Given the description of an element on the screen output the (x, y) to click on. 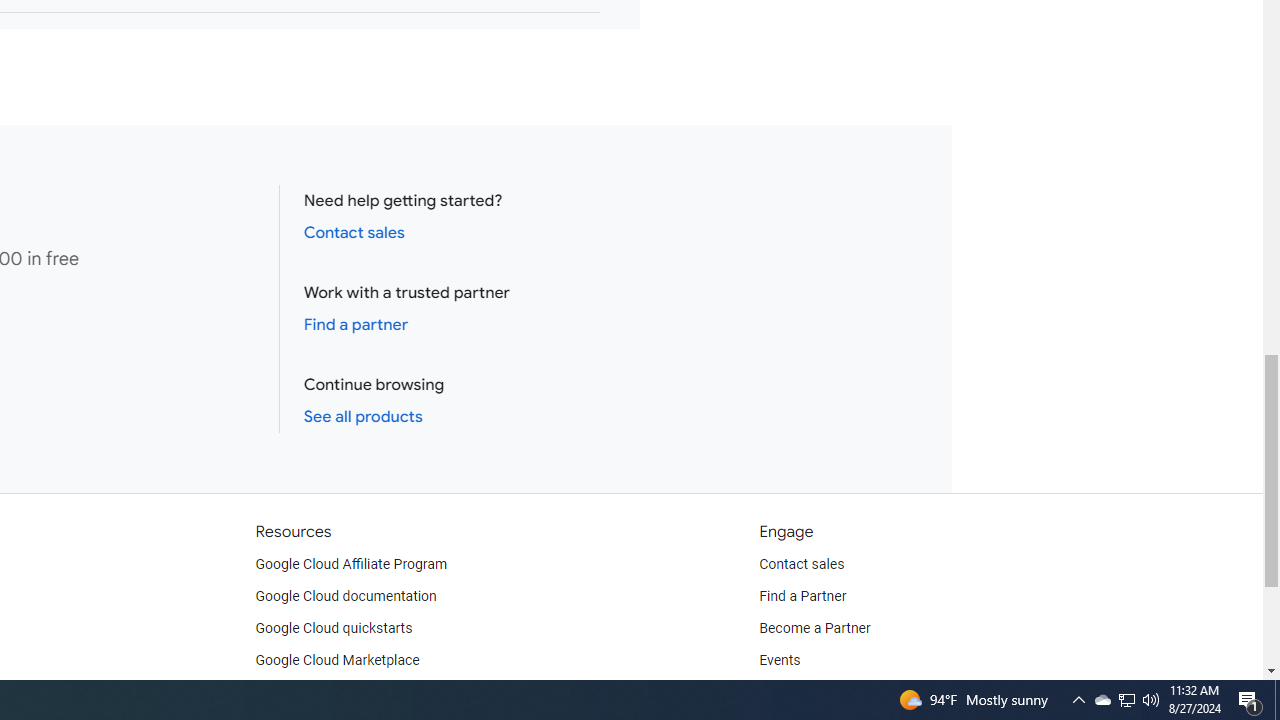
Events (780, 659)
Google Cloud Marketplace (336, 659)
Learn about cloud computing (345, 692)
Find a Partner (803, 596)
Podcasts (788, 692)
See all products (362, 416)
Contact sales (801, 564)
Become a Partner (814, 628)
Google Cloud Affiliate Program (351, 564)
Google Cloud documentation (345, 596)
Google Cloud quickstarts (333, 628)
Find a partner (356, 323)
